Given the description of an element on the screen output the (x, y) to click on. 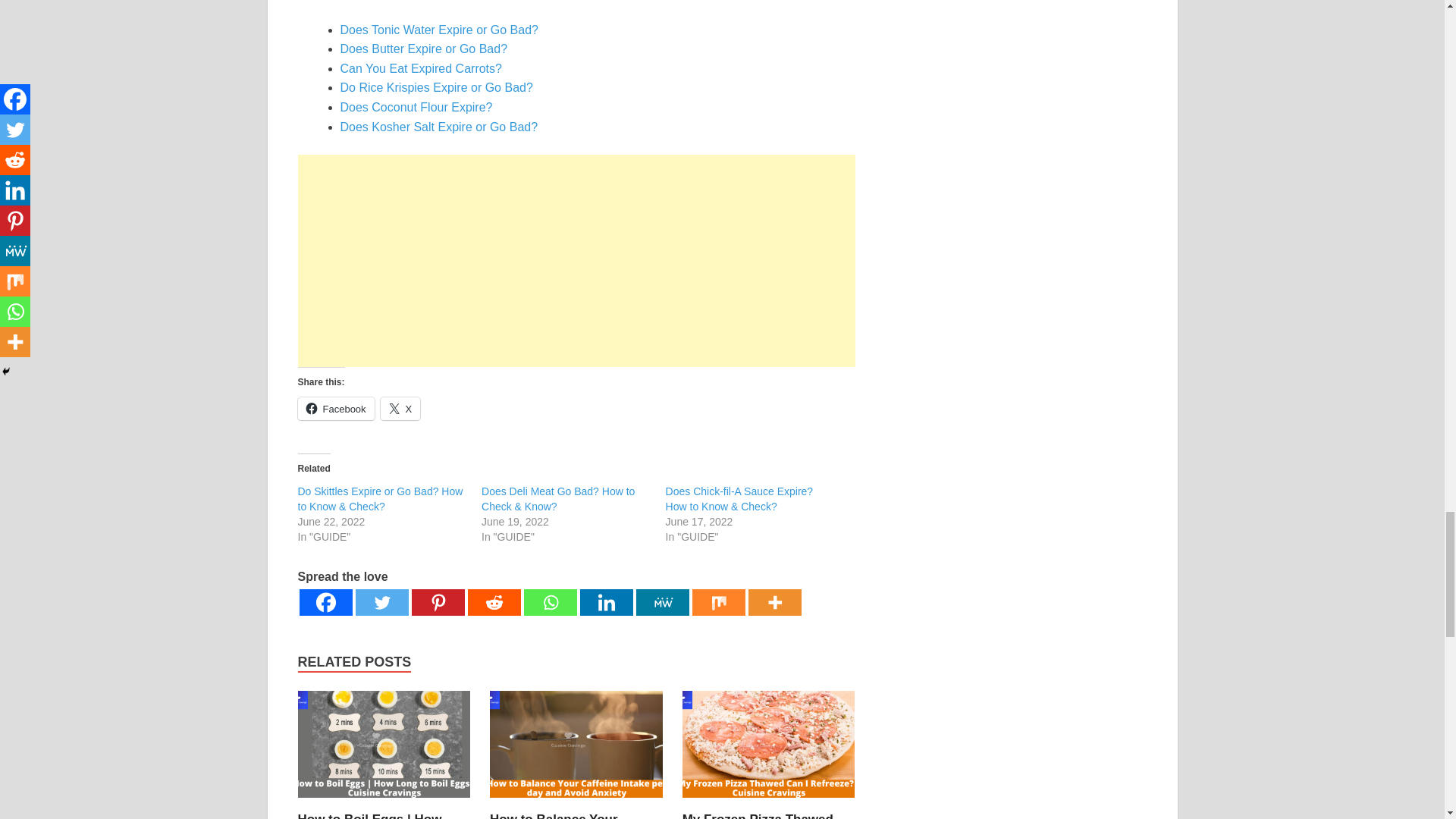
Facebook (325, 601)
Twitter (381, 601)
Click to share on X (400, 408)
Whatsapp (549, 601)
Reddit (493, 601)
Click to share on Facebook (335, 408)
Pinterest (437, 601)
More (774, 601)
Linkedin (605, 601)
MeWe (661, 601)
Mix (717, 601)
